Given the description of an element on the screen output the (x, y) to click on. 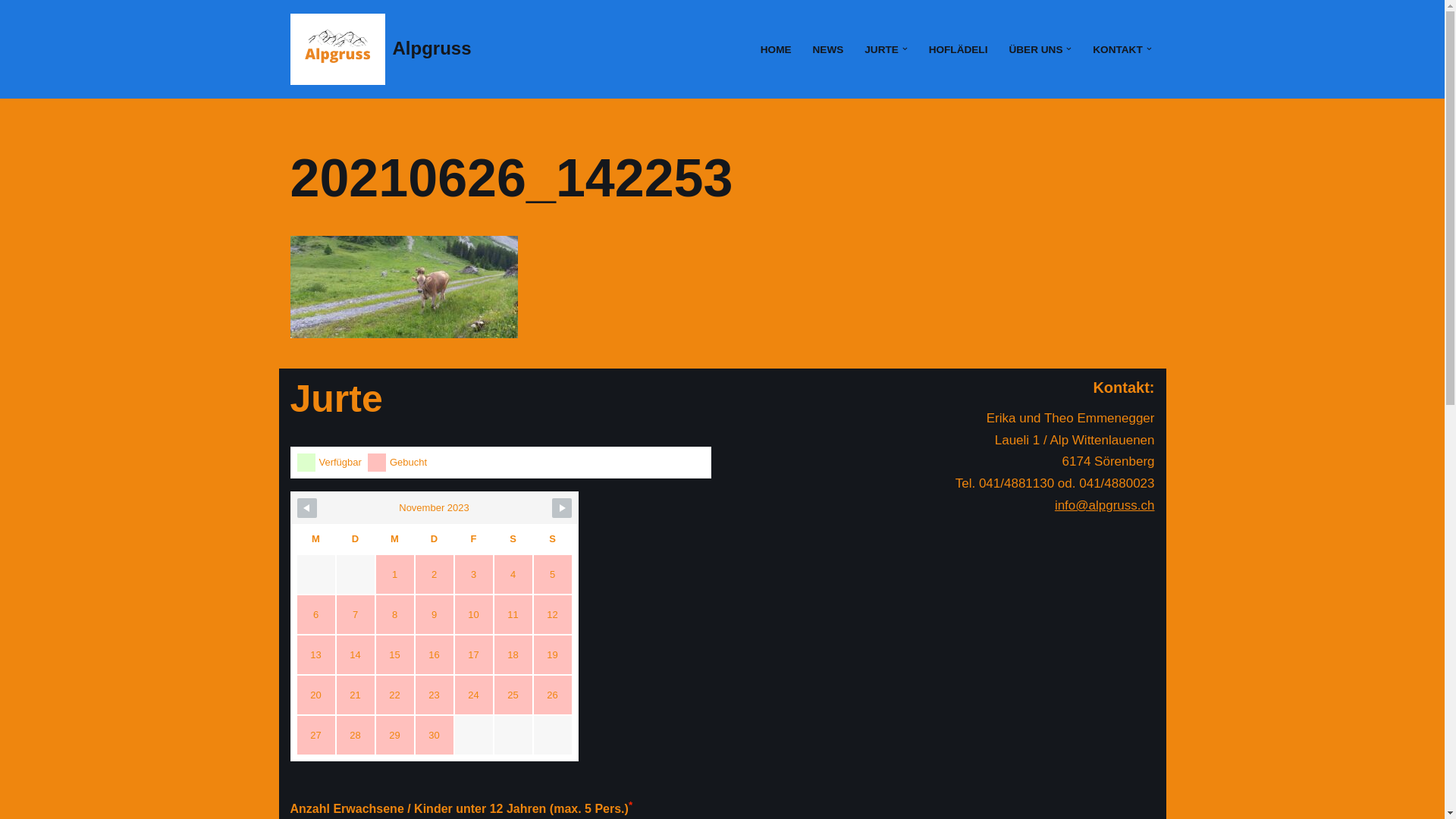
Alpgruss Element type: text (379, 48)
HOME Element type: text (775, 48)
info@alpgruss.ch Element type: text (1104, 505)
NEWS Element type: text (828, 48)
KONTAKT Element type: text (1117, 48)
JURTE Element type: text (881, 48)
Zum Inhalt Element type: text (11, 31)
